Given the description of an element on the screen output the (x, y) to click on. 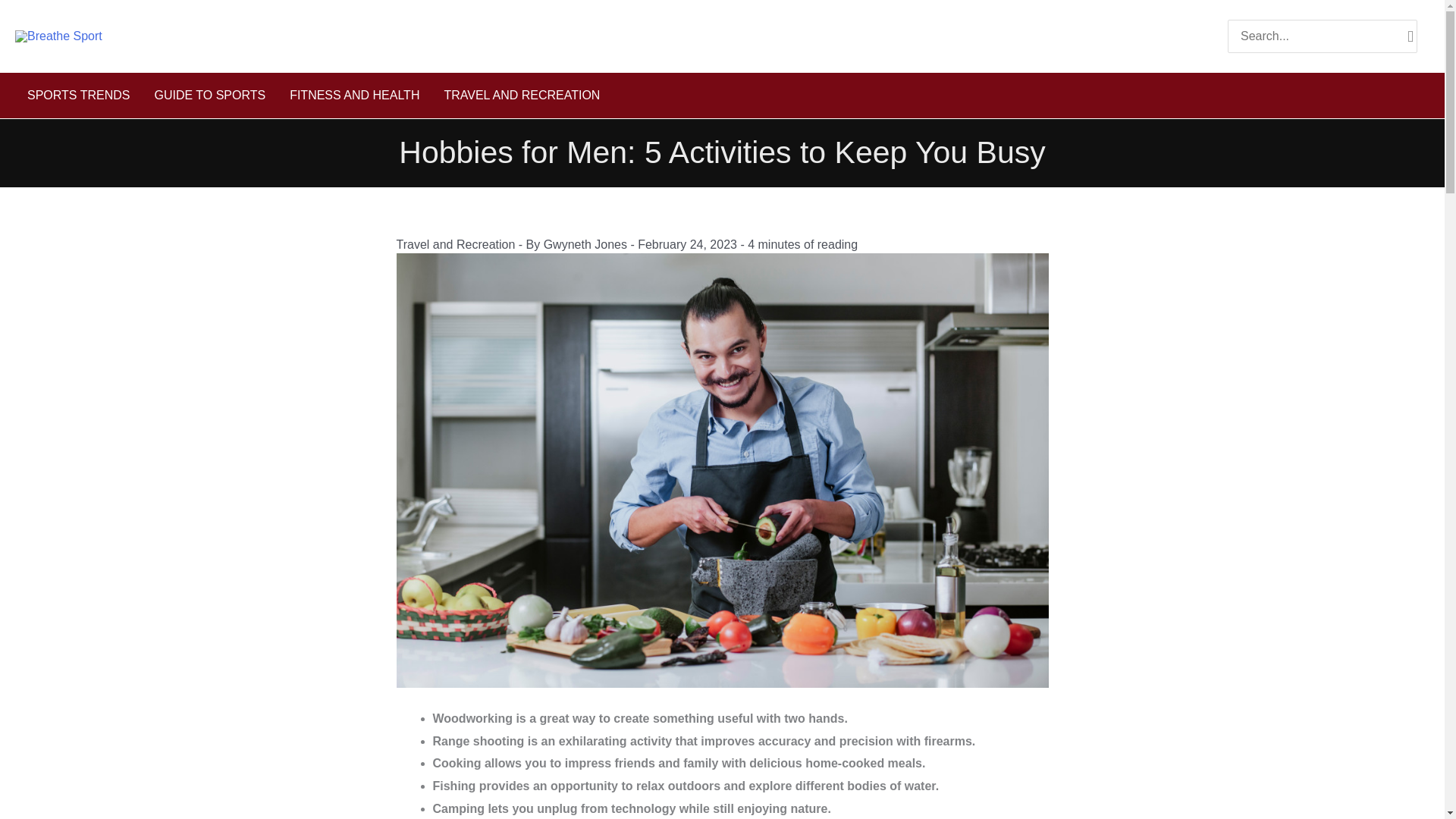
Gwyneth Jones (586, 244)
Search (1410, 36)
TRAVEL AND RECREATION (520, 94)
Travel and Recreation (455, 244)
FITNESS AND HEALTH (354, 94)
View all posts by Gwyneth Jones (586, 244)
SPORTS TRENDS (77, 94)
GUIDE TO SPORTS (209, 94)
